Given the description of an element on the screen output the (x, y) to click on. 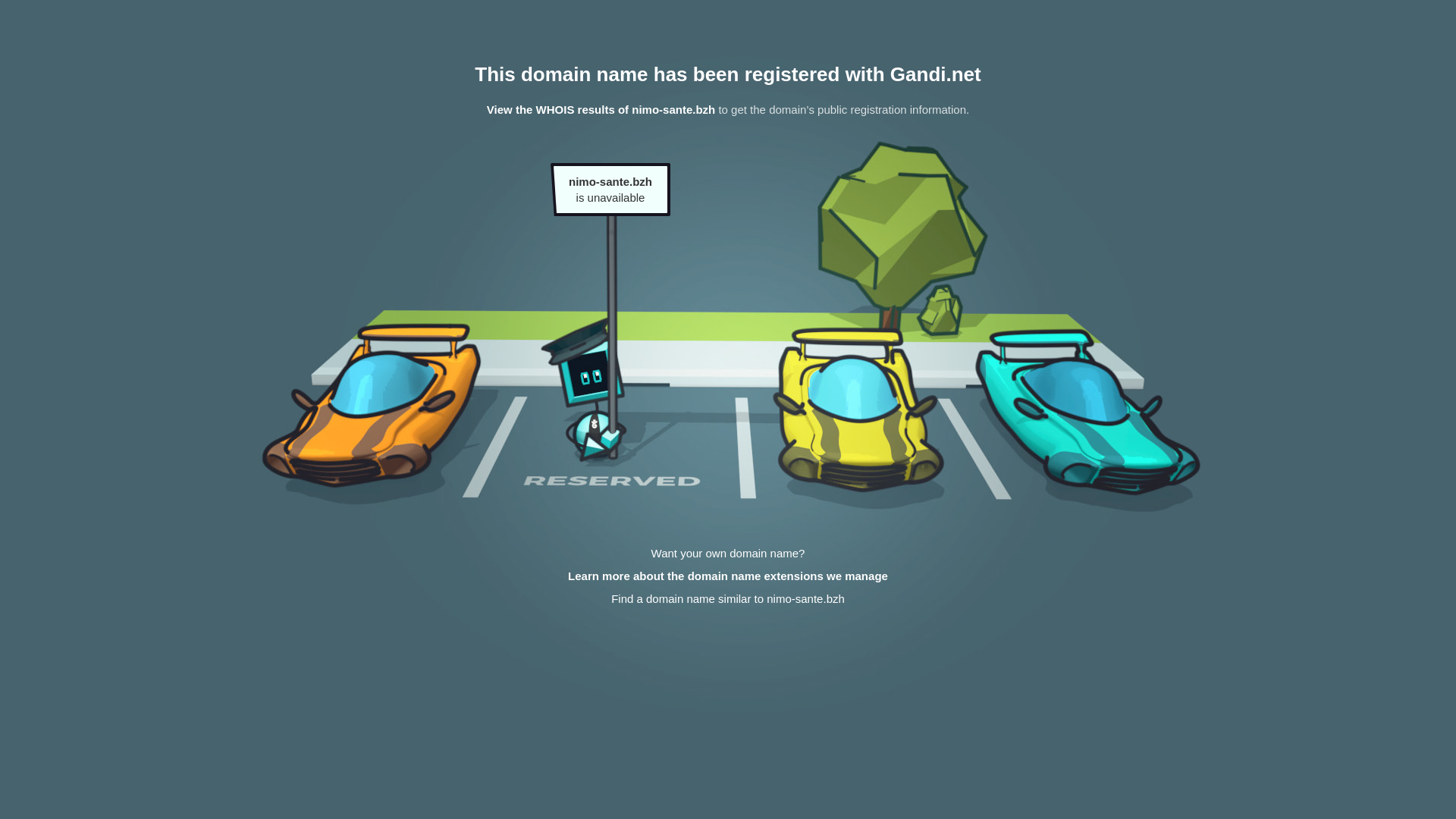
Learn more about the domain name extensions we manage Element type: text (727, 575)
Find a domain name similar to nimo-sante.bzh Element type: text (727, 598)
View the WHOIS results of nimo-sante.bzh Element type: text (600, 109)
